Given the description of an element on the screen output the (x, y) to click on. 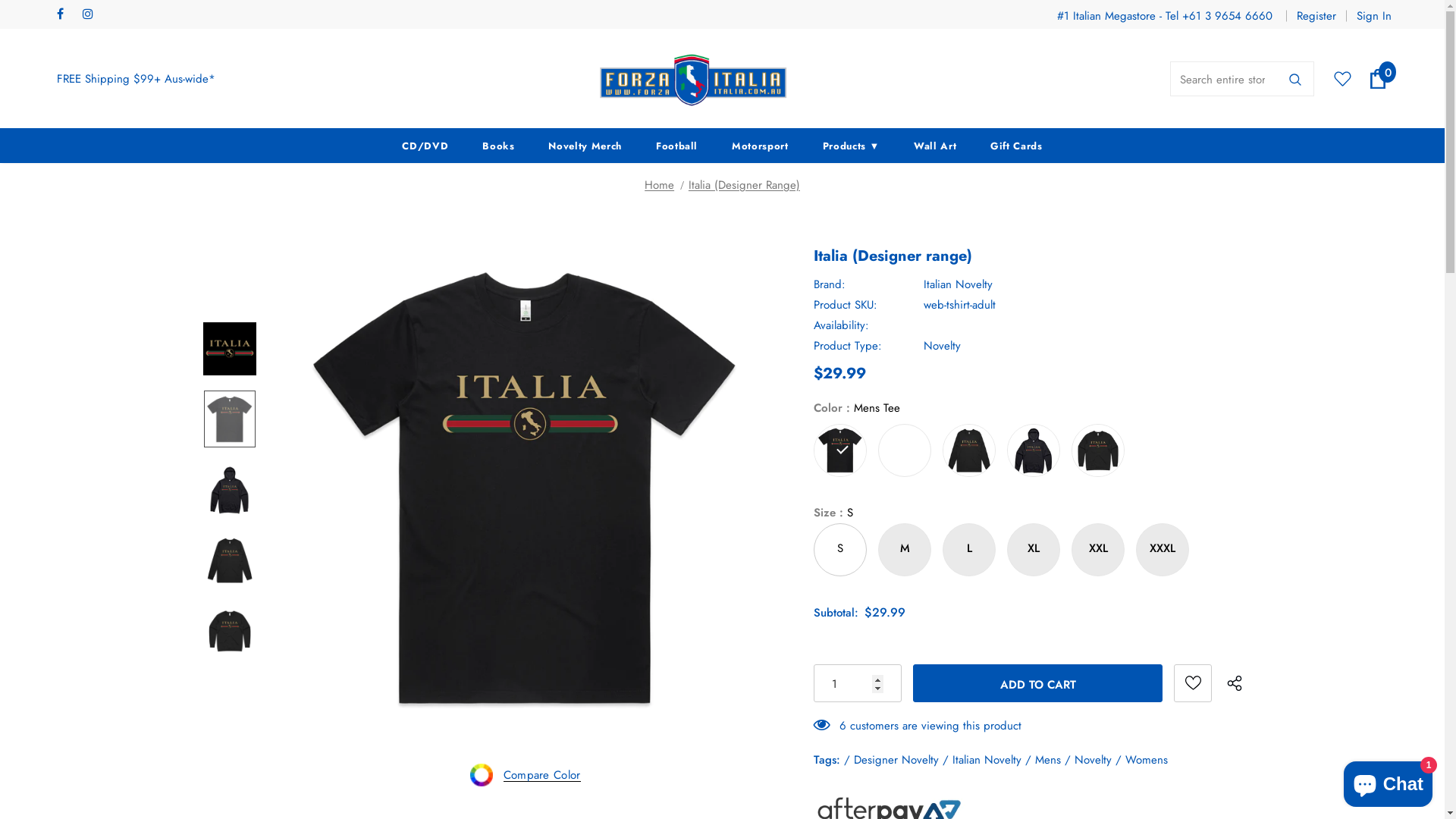
Compare Color Element type: text (525, 772)
Instagram Element type: hover (91, 14)
Books Element type: text (498, 145)
Mens Element type: text (1047, 759)
Italian Novelty Element type: text (957, 284)
Facebook Element type: hover (65, 14)
Italian Novelty Element type: text (986, 759)
Shopify online store chat Element type: hover (1388, 780)
Motorsport Element type: text (759, 145)
CD/DVD Element type: text (424, 145)
Gift Cards Element type: text (1016, 145)
Novelty Element type: text (1092, 759)
Novelty Merch Element type: text (584, 145)
Wall Art Element type: text (934, 145)
Designer Novelty Element type: text (895, 759)
Add to cart Element type: text (1037, 683)
Sign In Element type: text (1368, 15)
Logo Element type: hover (692, 79)
Football Element type: text (676, 145)
Register Element type: text (1316, 15)
Home Element type: text (659, 185)
Womens Element type: text (1146, 759)
0 Element type: text (1377, 78)
